Given the description of an element on the screen output the (x, y) to click on. 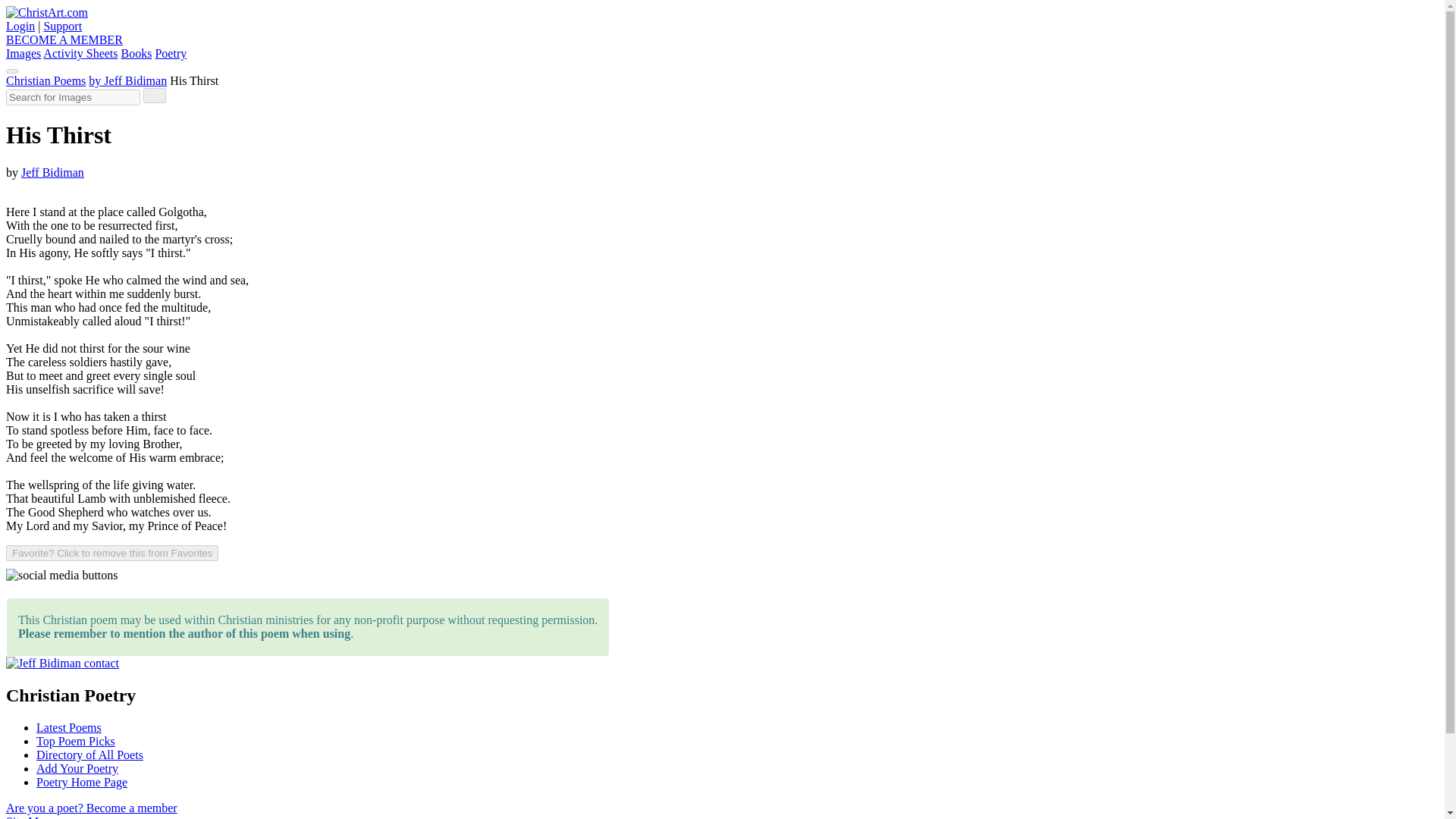
Poetry Home Page (82, 781)
by Jeff Bidiman (127, 80)
Christian Poems (45, 80)
Books (136, 52)
Directory of All Poets (89, 754)
Images (22, 52)
Activity Sheets (80, 52)
Favorite? Click to remove this from Favorites (111, 553)
Top Poem Picks (75, 740)
Are you a poet? Become a member (91, 807)
Support (62, 25)
Site Map (27, 816)
Latest Poems (68, 727)
contact (101, 662)
His Thirst (194, 80)
